Given the description of an element on the screen output the (x, y) to click on. 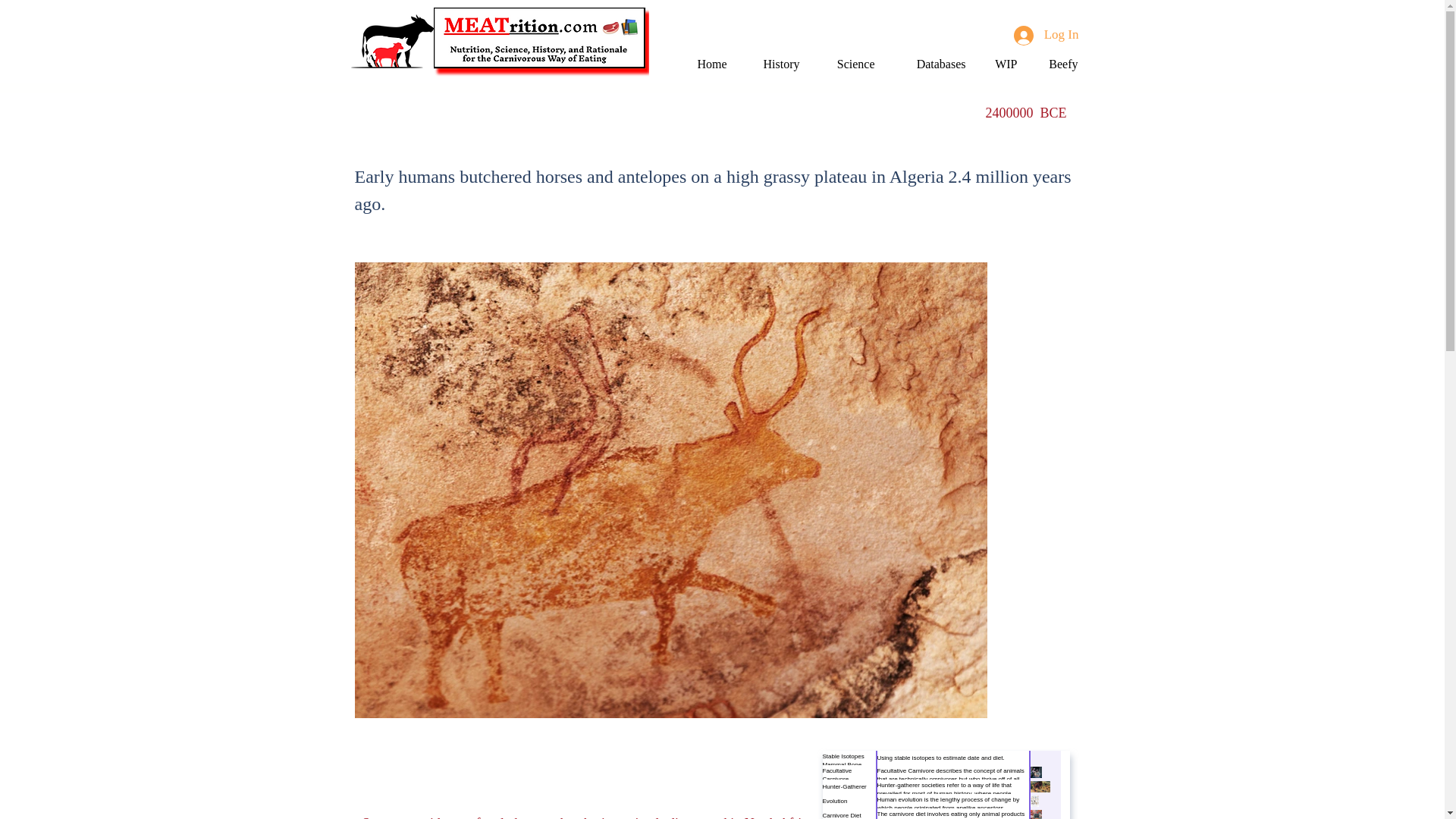
Meatrition.com.png (541, 41)
Home (706, 63)
Log In (1046, 35)
